Given the description of an element on the screen output the (x, y) to click on. 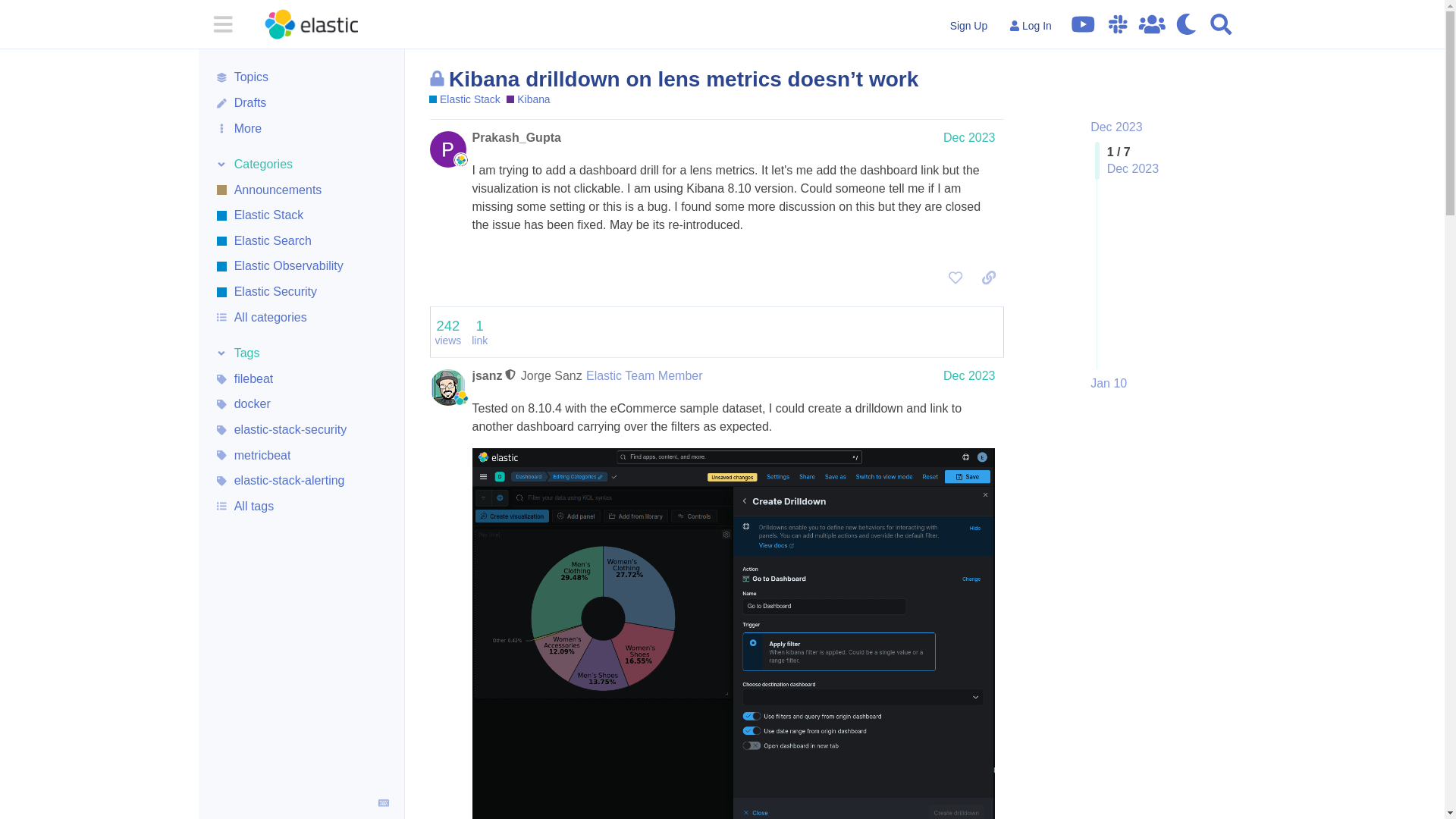
Elastic Community Events (1152, 23)
Elastic Observability (301, 266)
Announcements (301, 190)
Elastic Search (301, 240)
All categories (301, 317)
docker (301, 404)
Toggle section (301, 353)
Elastic Security (301, 291)
Kibana (528, 99)
